Given the description of an element on the screen output the (x, y) to click on. 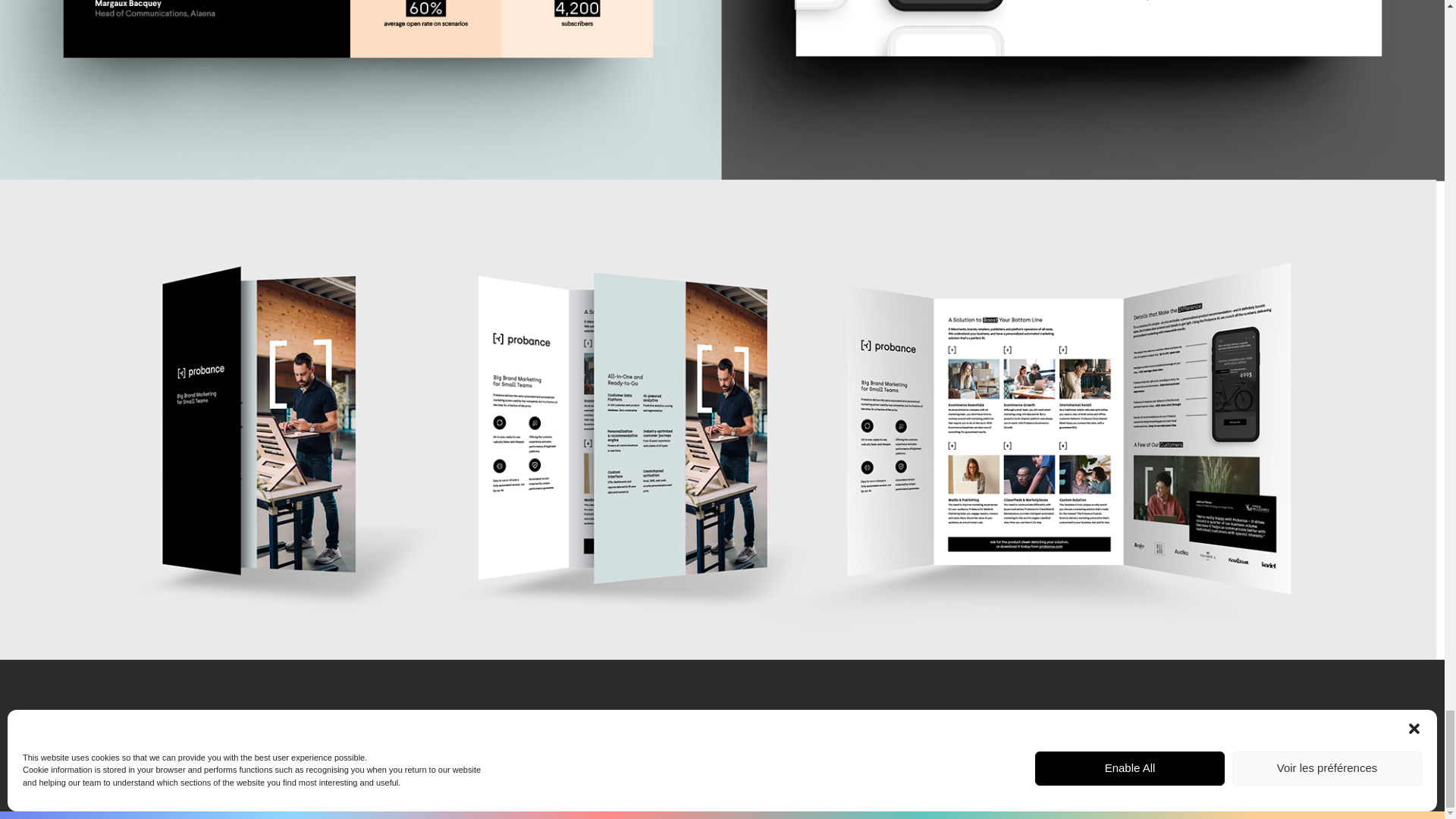
ELEIUS (193, 749)
Legal Notice (1266, 755)
